Given the description of an element on the screen output the (x, y) to click on. 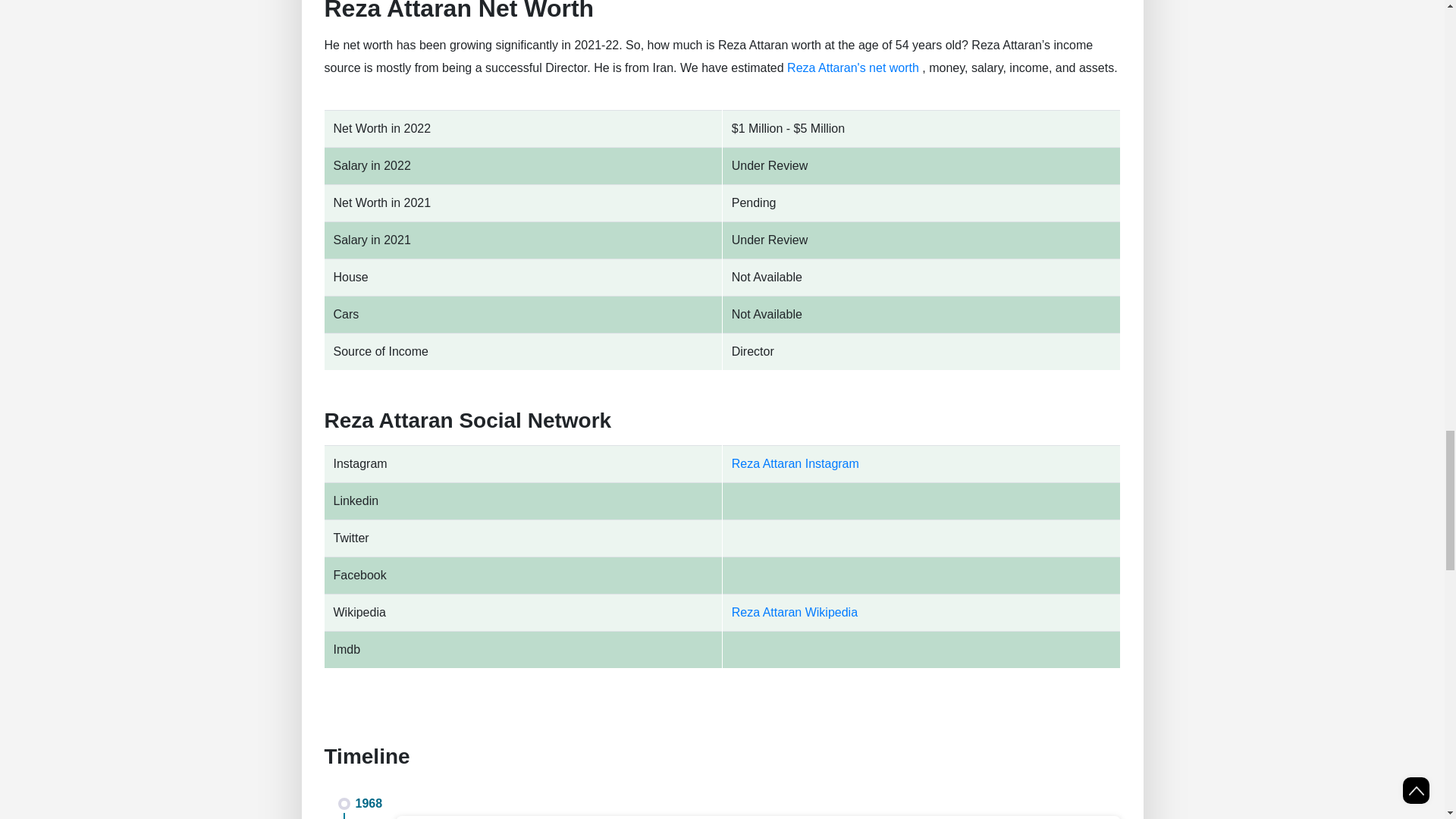
Reza Attaran Wikipedia (794, 612)
Reza Attaran's net worth (852, 67)
Reza Attaran Instagram (795, 463)
